Given the description of an element on the screen output the (x, y) to click on. 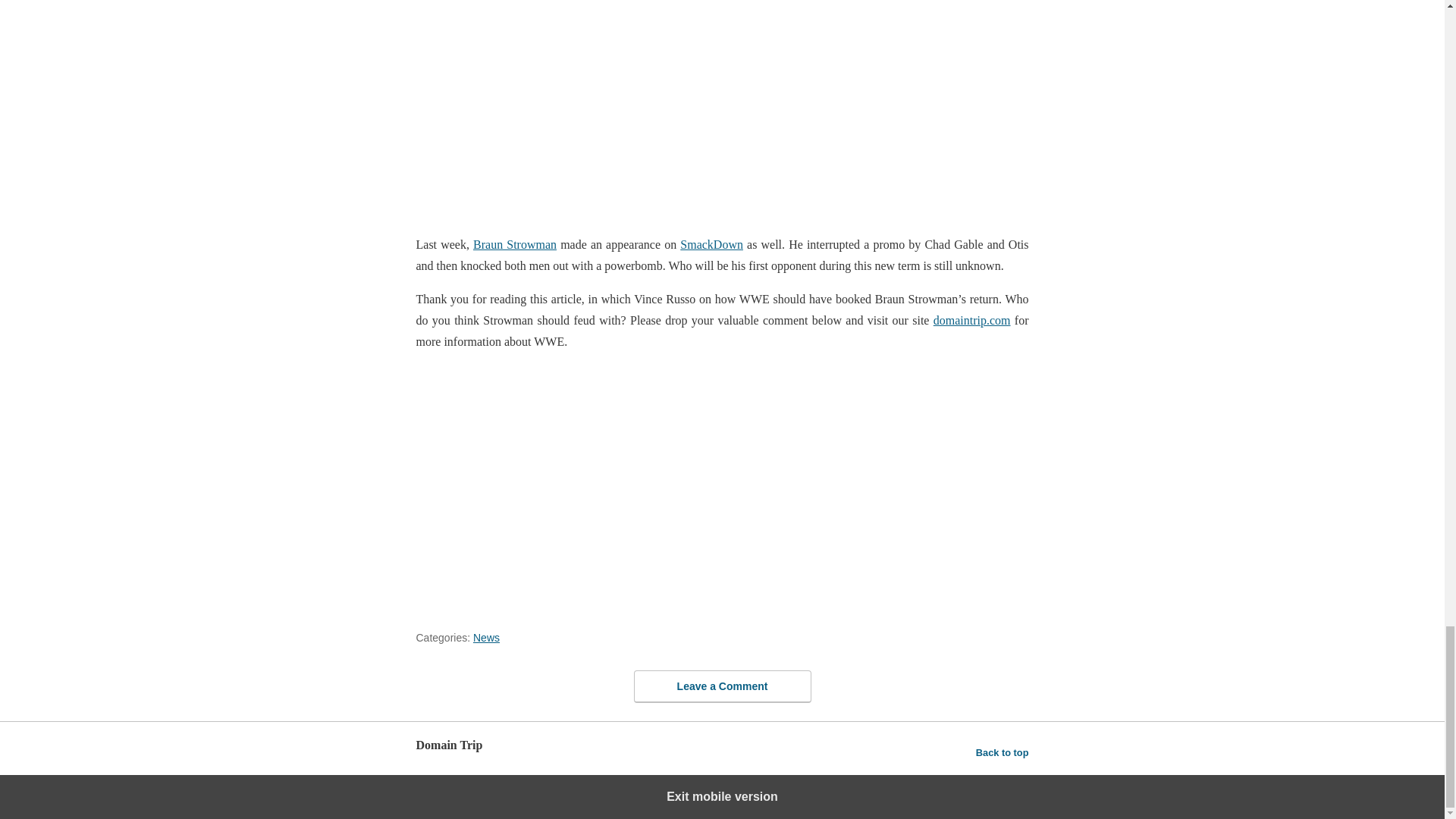
News (486, 637)
Leave a Comment (721, 686)
domaintrip.com (971, 319)
SmackDown (710, 244)
Back to top (1002, 752)
Braun Strowman (514, 244)
